Given the description of an element on the screen output the (x, y) to click on. 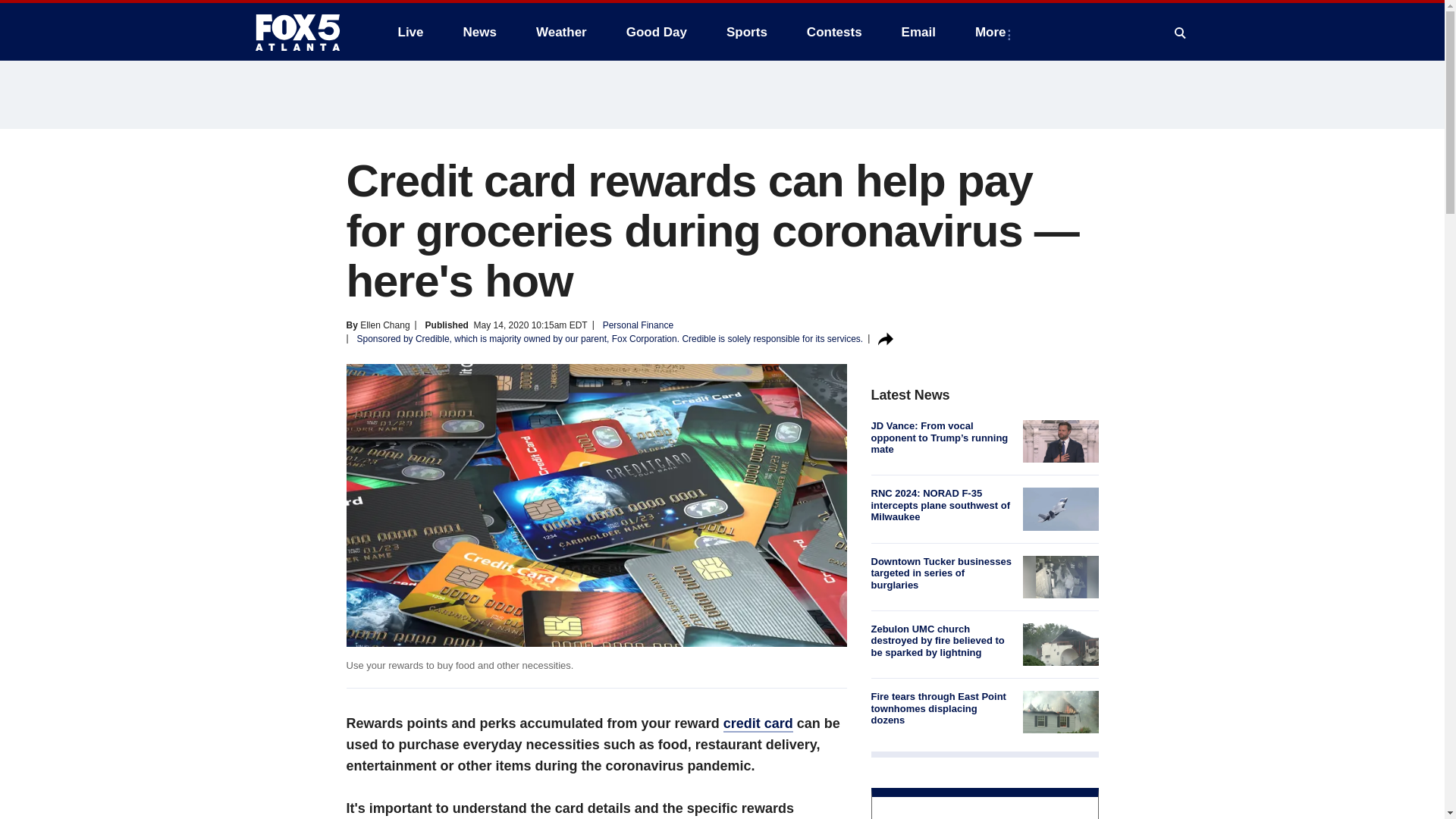
More (993, 32)
News (479, 32)
Live (410, 32)
Contests (834, 32)
Sports (746, 32)
Good Day (656, 32)
Email (918, 32)
Weather (561, 32)
